Given the description of an element on the screen output the (x, y) to click on. 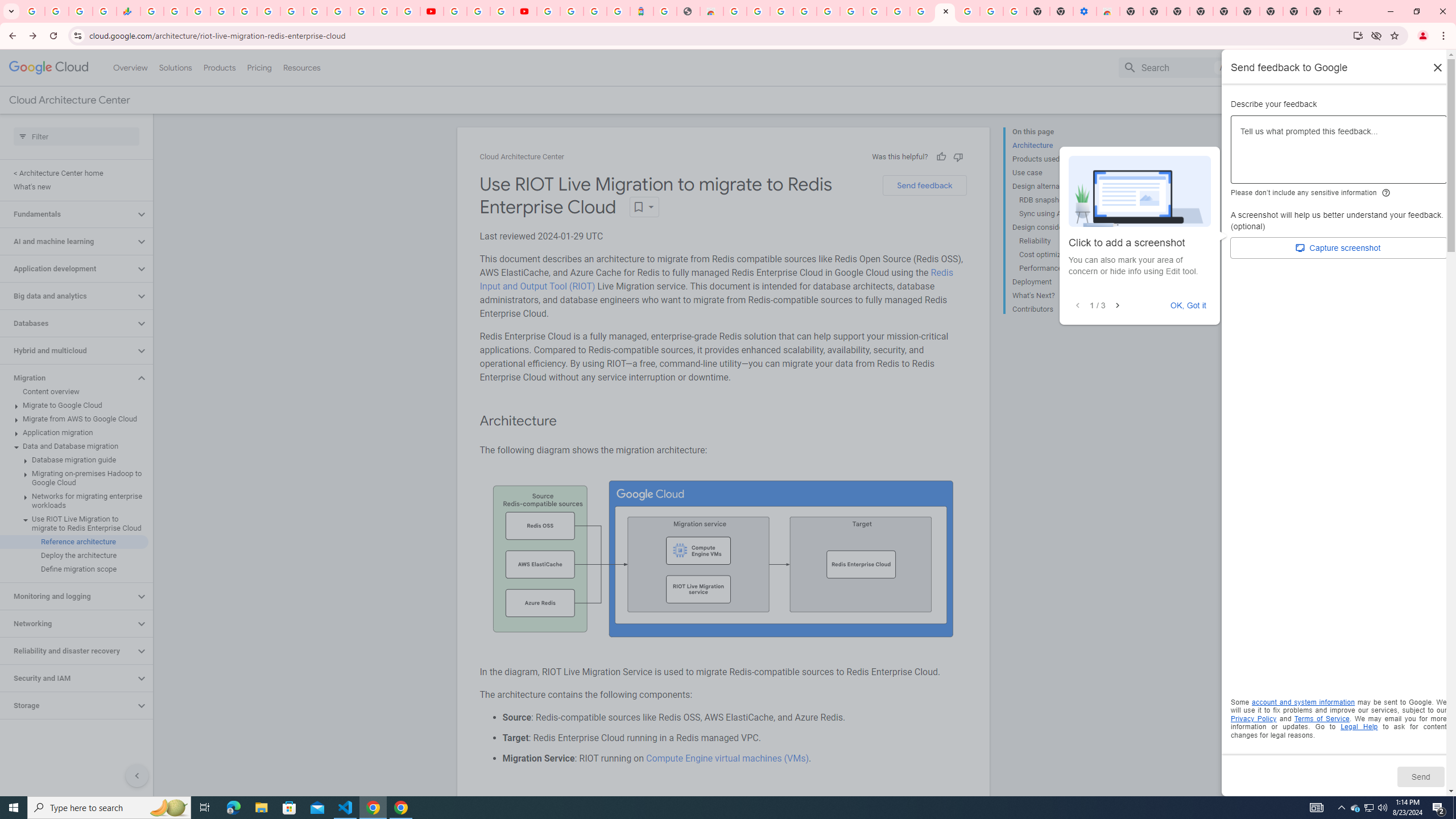
Google Account Help (992, 11)
Reference architecture (74, 541)
Fundamentals (67, 214)
Use RIOT Live Migration to migrate to Redis Enterprise Cloud (74, 523)
Architecture (1058, 145)
Compute Engine virtual machines (VMs) (726, 758)
